Given the description of an element on the screen output the (x, y) to click on. 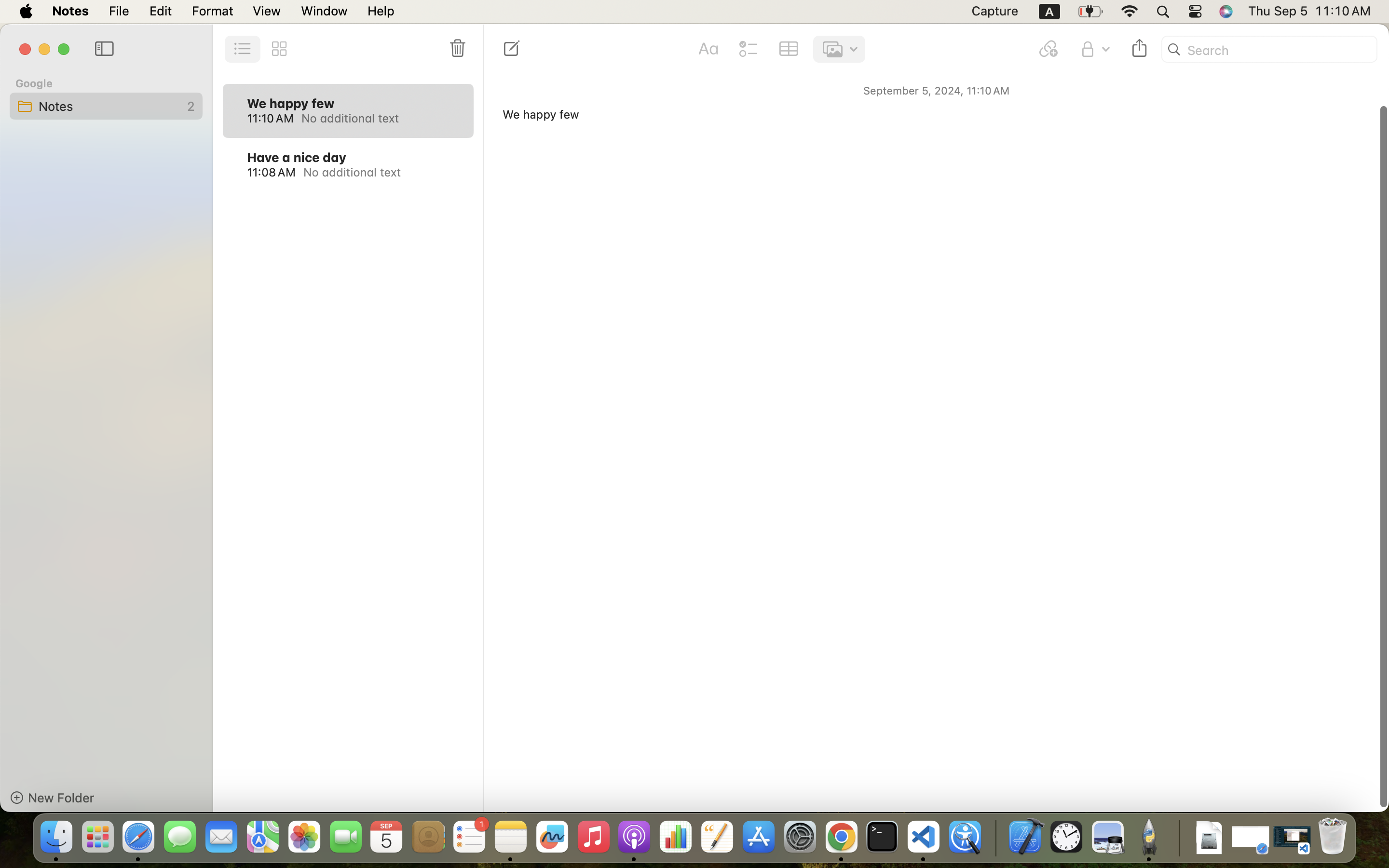
No additional text Element type: AXStaticText (376, 117)
